Given the description of an element on the screen output the (x, y) to click on. 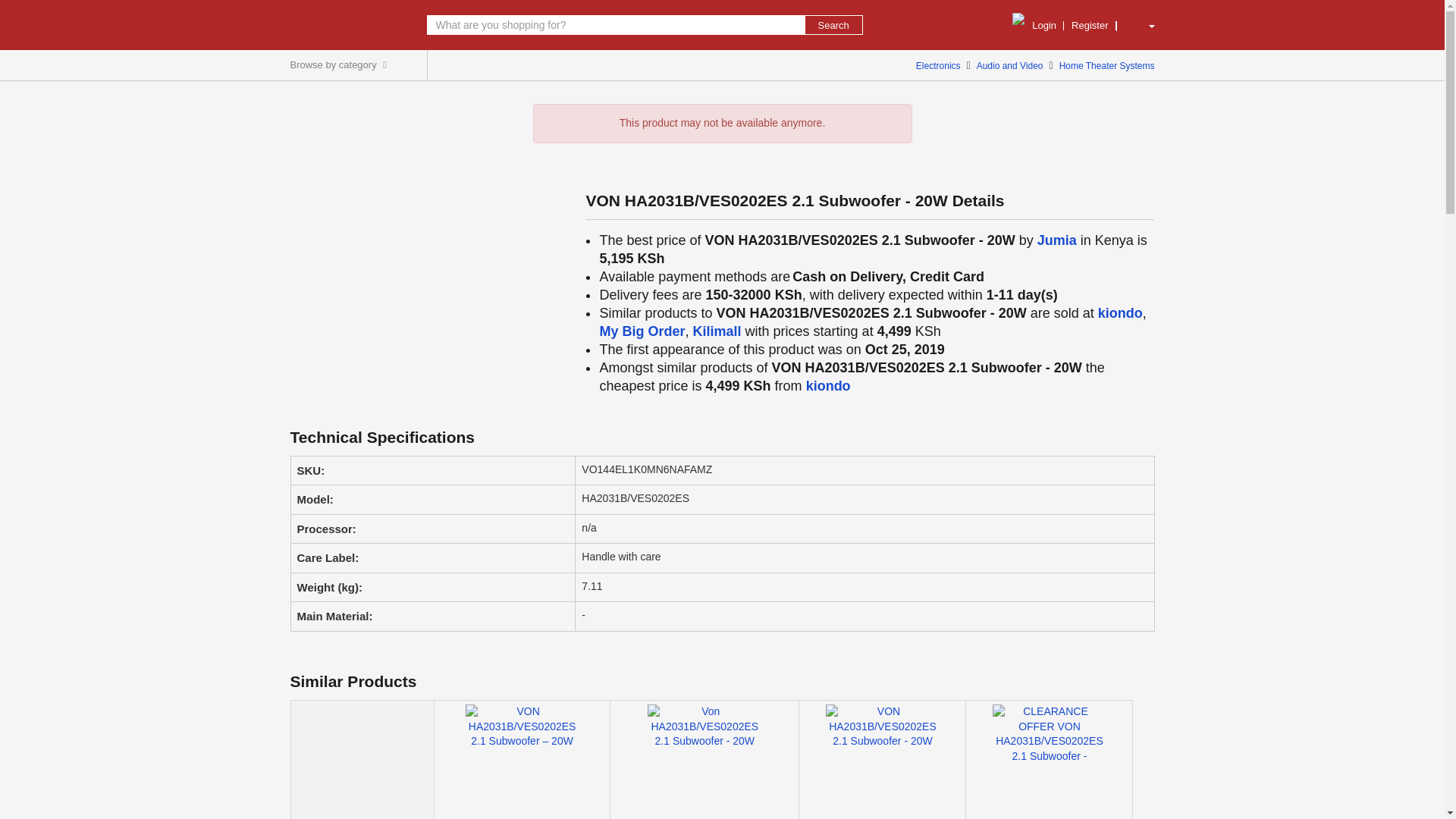
Yaoota! (342, 24)
Search (833, 24)
Login (1044, 25)
Register (1089, 25)
